Given the description of an element on the screen output the (x, y) to click on. 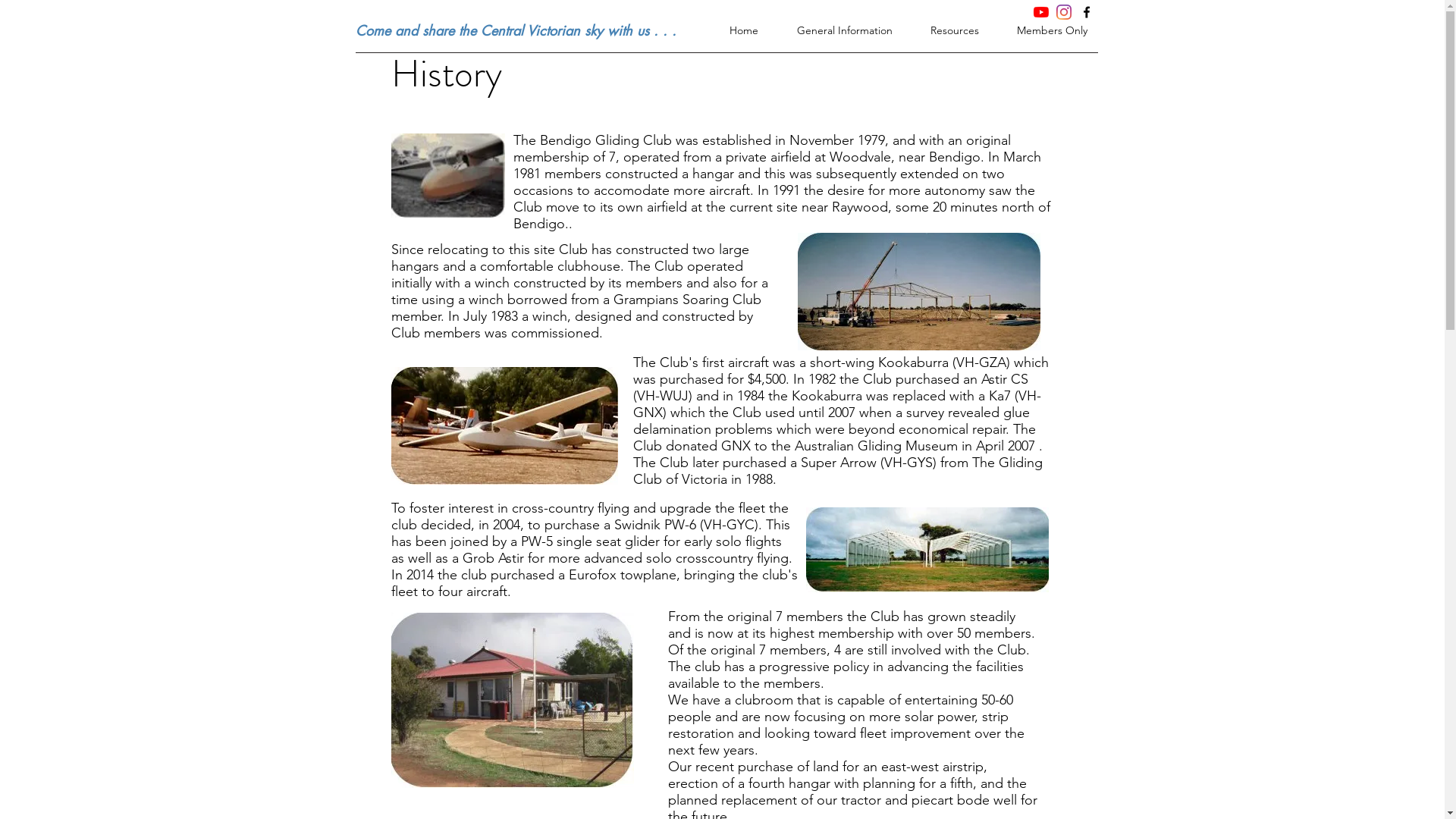
winch Element type: text (549, 315)
General Information Element type: text (832, 29)
Resources Element type: text (942, 29)
Ka7 Element type: text (999, 395)
winch Element type: text (491, 282)
Raywood Element type: text (859, 206)
Kookaburra Element type: text (913, 362)
Members Only Element type: text (1039, 29)
winch Element type: text (485, 299)
k8_ico.jpg Element type: hover (448, 175)
Super Arrow Element type: text (838, 462)
Home Element type: text (731, 29)
Swidnik PW-6 Element type: text (655, 524)
